Given the description of an element on the screen output the (x, y) to click on. 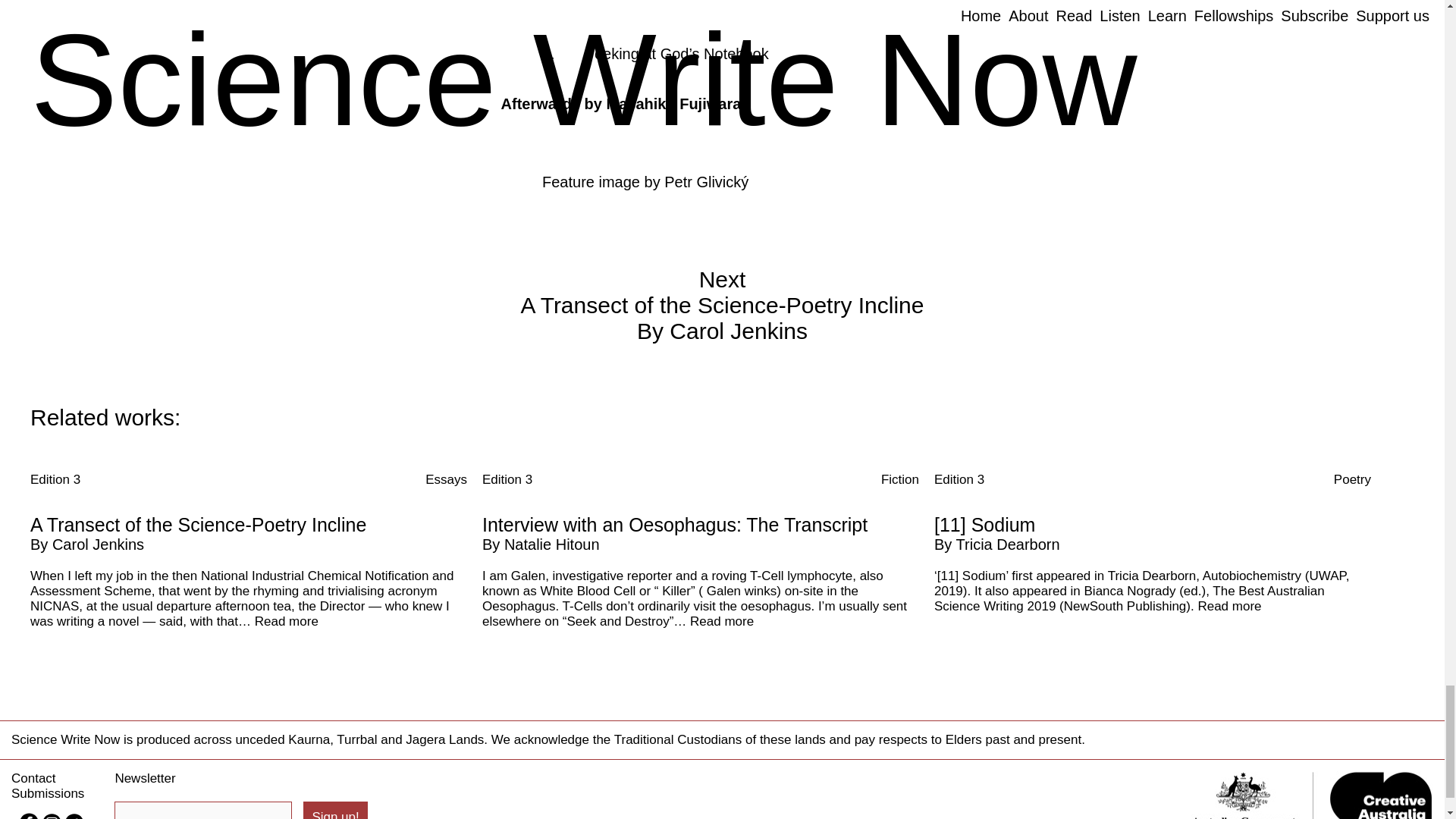
Essays (446, 479)
Sign up! (334, 810)
Read more (286, 621)
Fiction (899, 479)
Edition 3 (55, 479)
Carol Jenkins (98, 544)
